Given the description of an element on the screen output the (x, y) to click on. 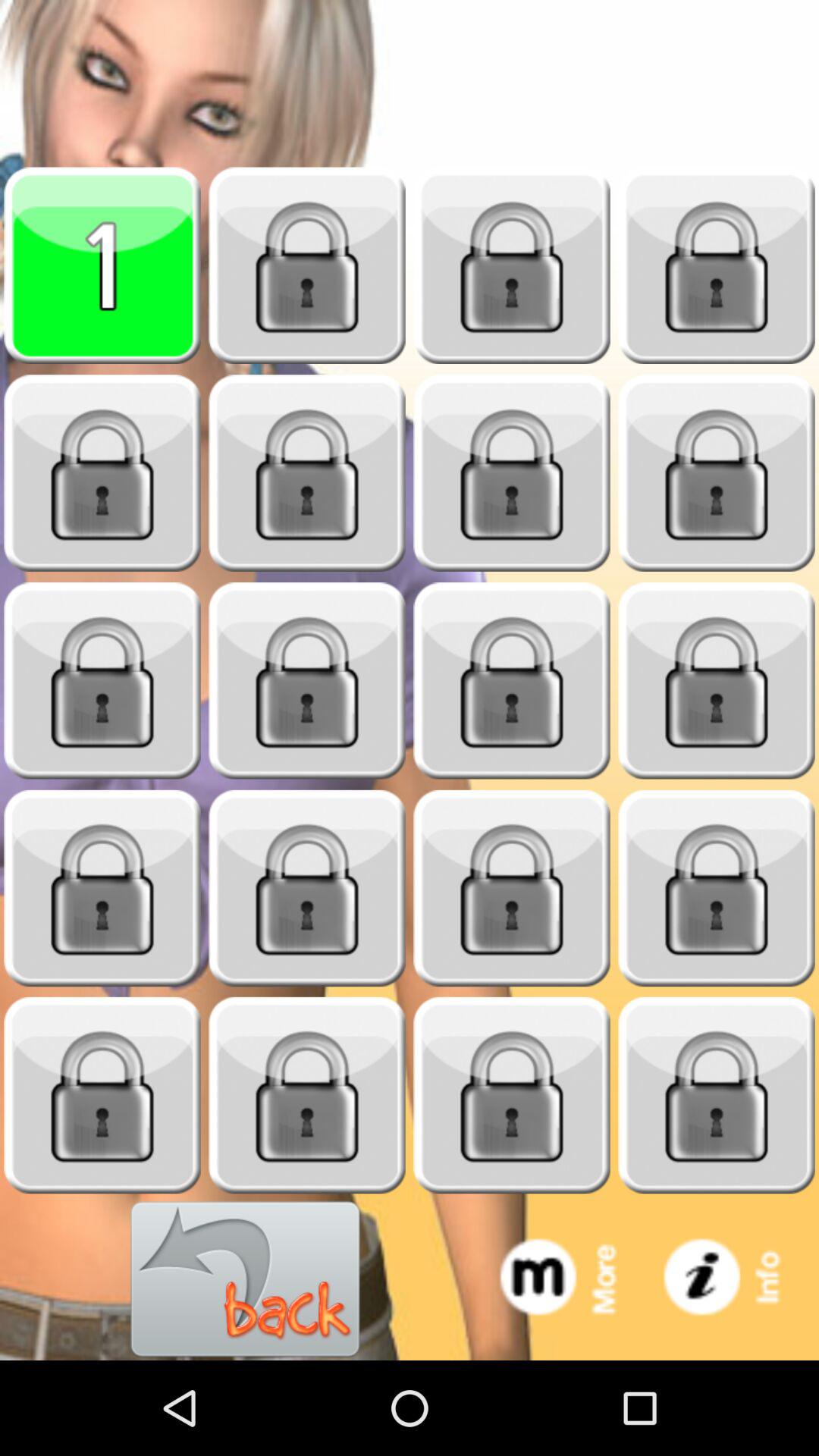
back to previous page (245, 1279)
